Given the description of an element on the screen output the (x, y) to click on. 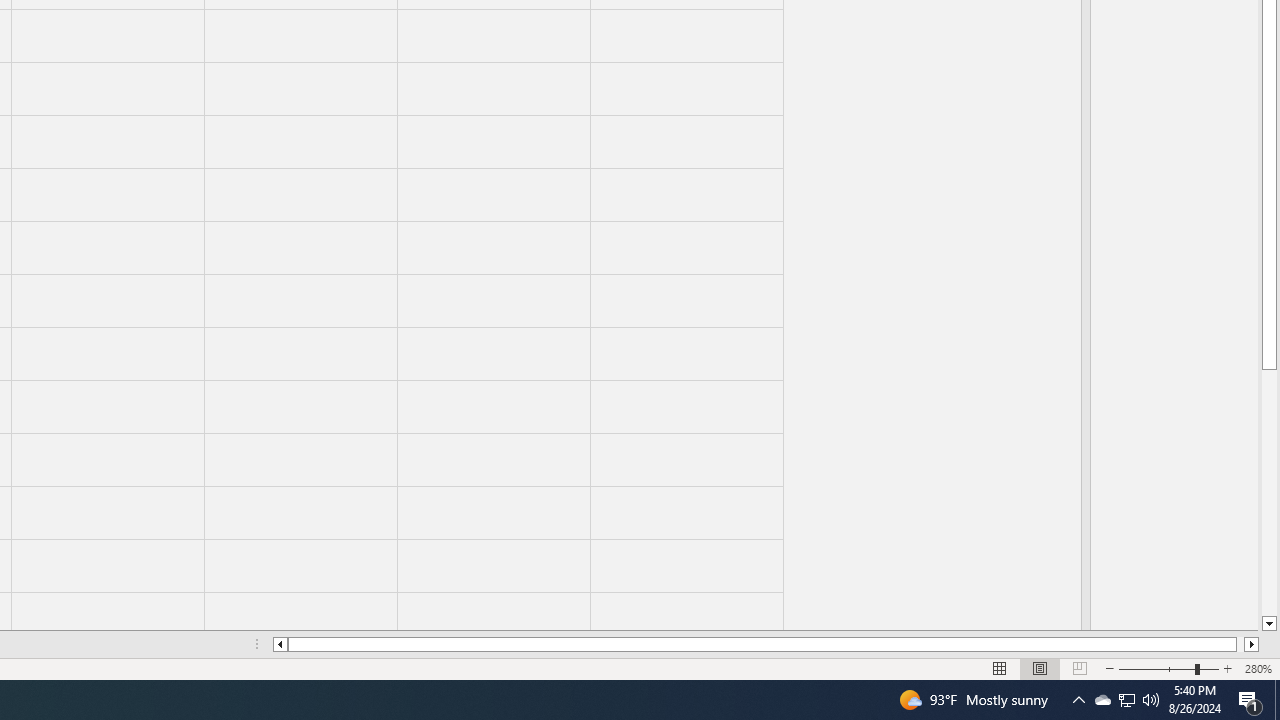
Page Layout (1039, 668)
Zoom (1168, 668)
Normal (1000, 668)
Page down (1268, 493)
Class: NetUIScrollBar (765, 644)
Column left (279, 644)
Zoom In (1227, 668)
Zoom Out (1156, 668)
Page Break Preview (1079, 668)
Column right (1252, 644)
Page right (1240, 644)
Line down (1268, 624)
